Given the description of an element on the screen output the (x, y) to click on. 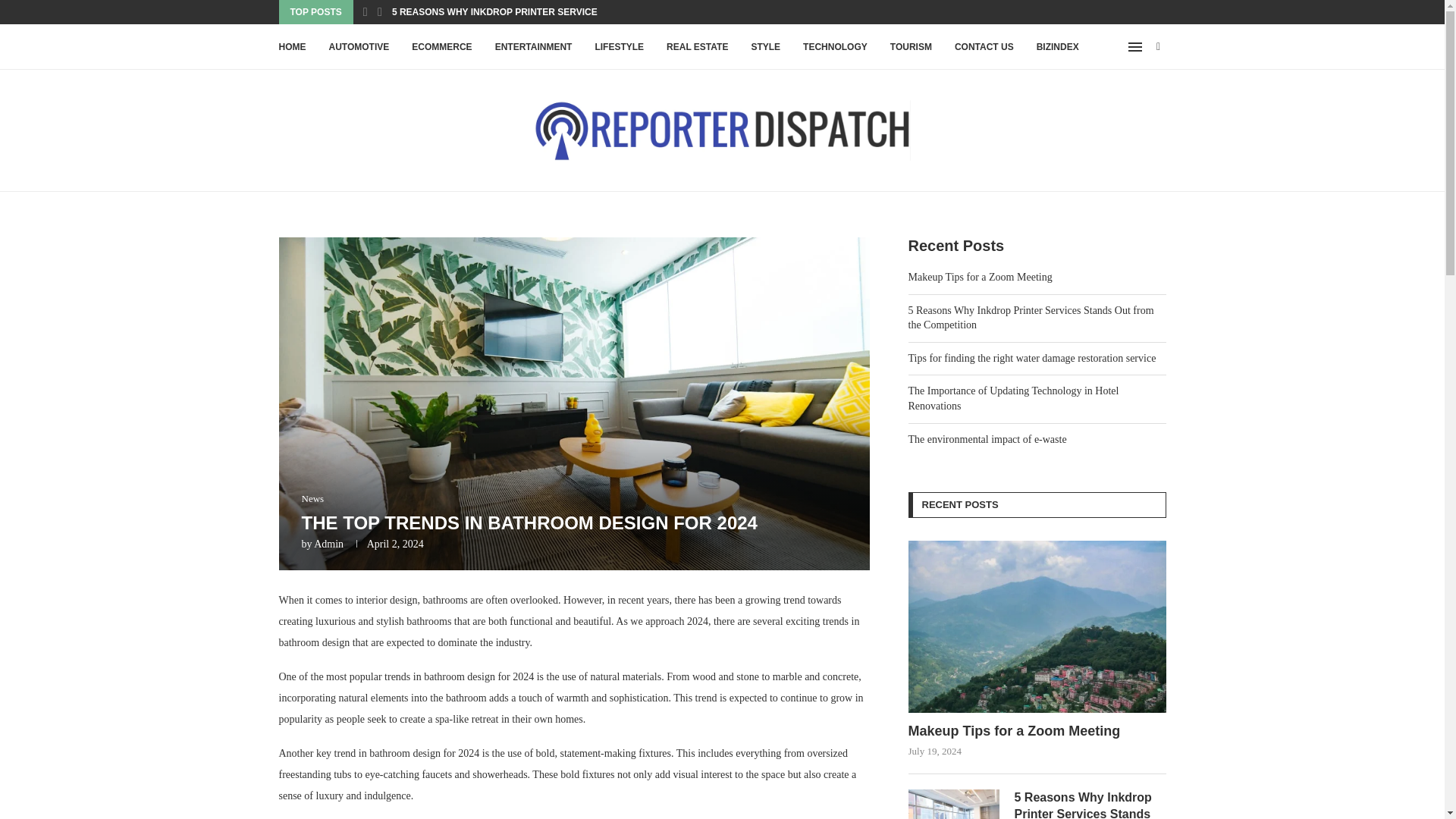
LIFESTYLE (618, 46)
REAL ESTATE (697, 46)
Makeup Tips for a Zoom Meeting (1037, 626)
TECHNOLOGY (835, 46)
CONTACT US (984, 46)
News (312, 499)
5 REASONS WHY INKDROP PRINTER SERVICES STANDS OUT... (531, 12)
BIZINDEX (1057, 46)
AUTOMOTIVE (359, 46)
ECOMMERCE (441, 46)
TOURISM (910, 46)
Makeup Tips for a Zoom Meeting (1037, 731)
ENTERTAINMENT (533, 46)
